Given the description of an element on the screen output the (x, y) to click on. 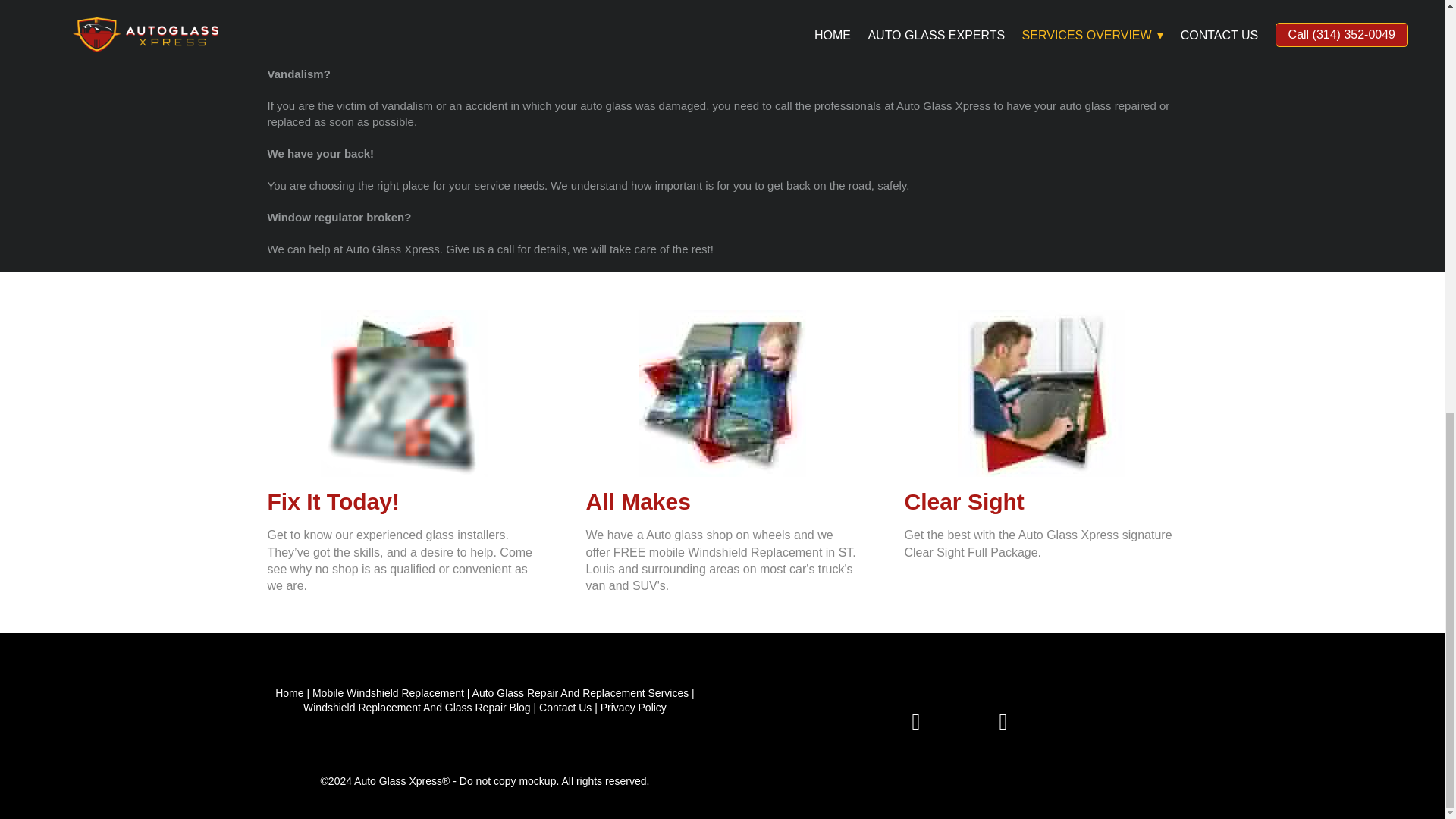
Windshield Replacement And Glass Repair Blog (416, 707)
Privacy Policy (632, 707)
Fix It Today! (332, 501)
Home (288, 693)
Contact Us (564, 707)
Mobile Windshield Replacement (388, 693)
All Makes (637, 501)
Auto Glass Repair And Replacement Services (579, 693)
Clear Sight (963, 501)
